Given the description of an element on the screen output the (x, y) to click on. 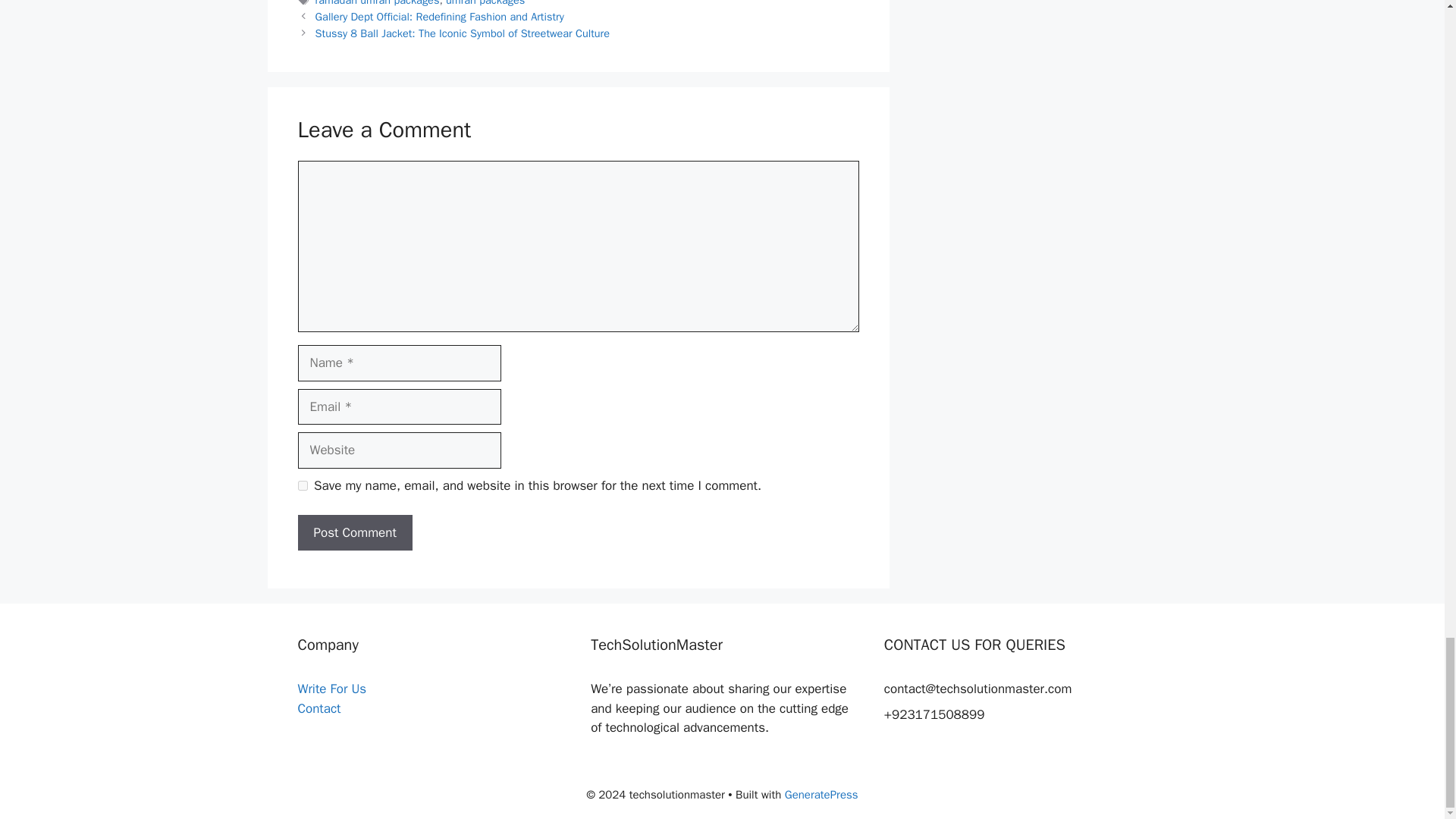
ramadan umrah packages (377, 3)
Write For Us (331, 688)
GeneratePress (821, 794)
Gallery Dept Official: Redefining Fashion and Artistry (439, 16)
yes (302, 485)
Post Comment (354, 533)
umrah packages (484, 3)
Post Comment (354, 533)
Contact (318, 708)
